Given the description of an element on the screen output the (x, y) to click on. 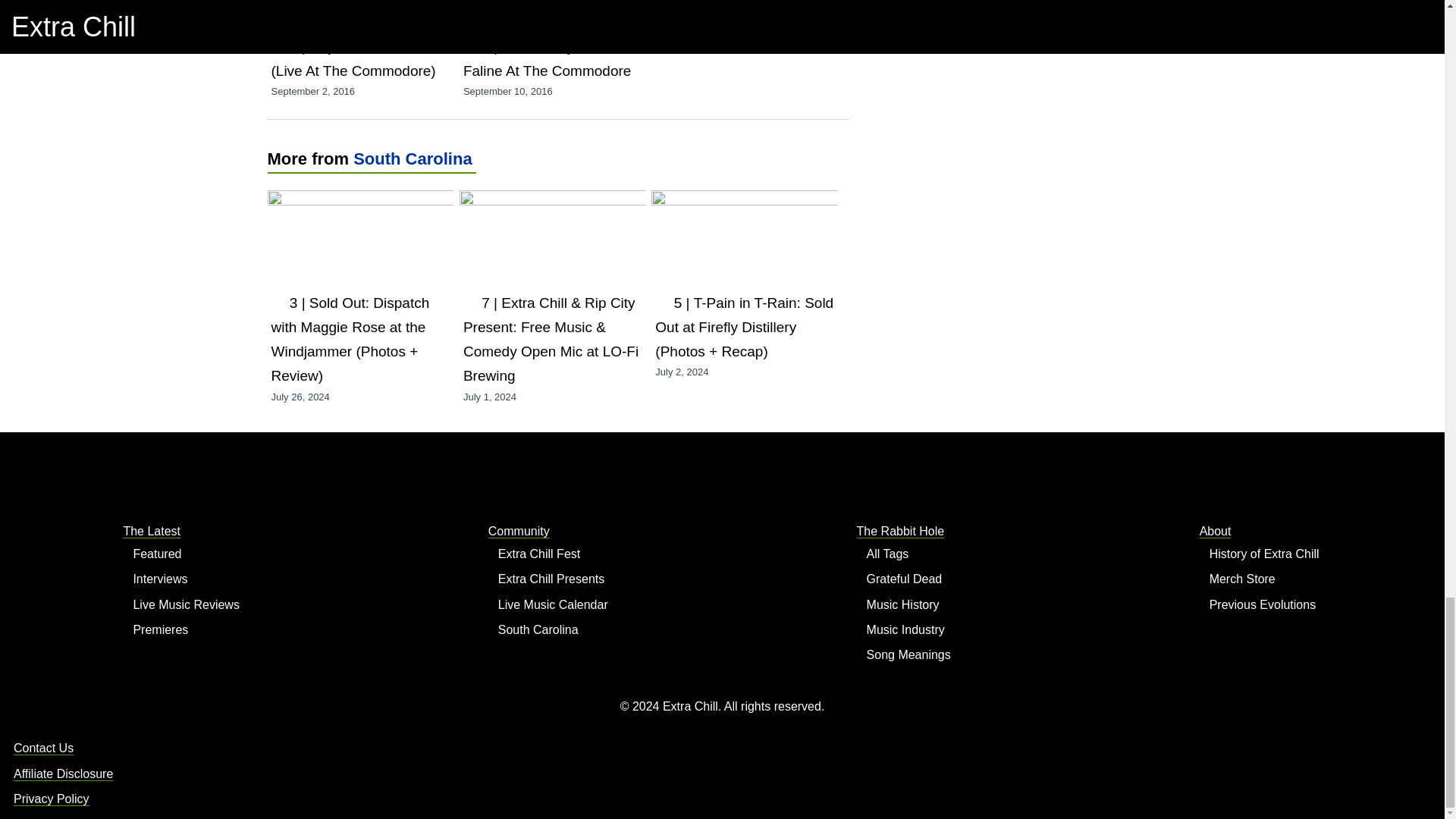
Michael Flynn And Faline At The Commodore (546, 58)
